Given the description of an element on the screen output the (x, y) to click on. 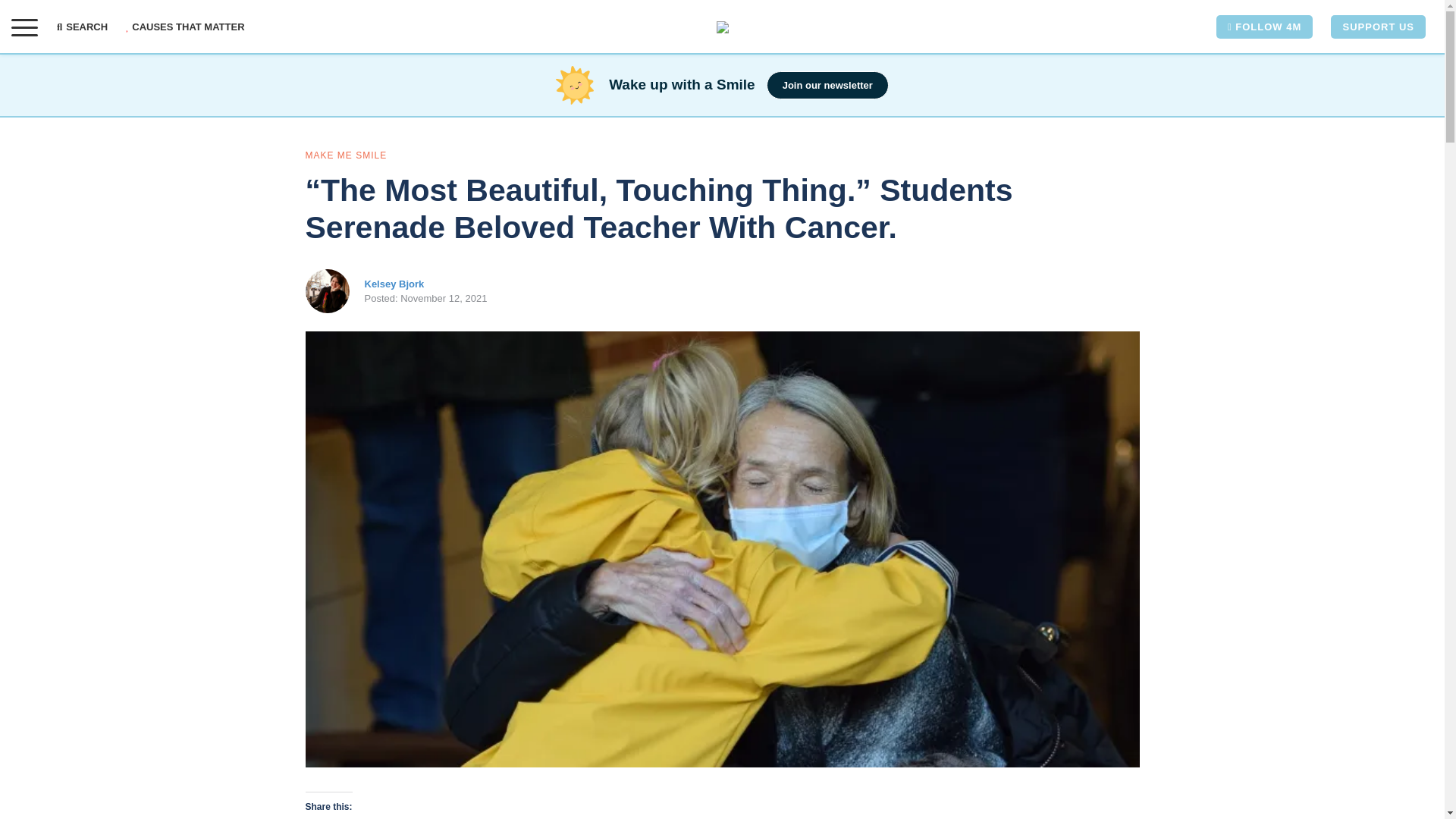
SEARCH (86, 26)
Kelsey Bjork (393, 283)
FOLLOW 4M (1264, 26)
SUPPORT US (1377, 26)
Join our newsletter (827, 85)
CAUSES THAT MATTER (184, 26)
MAKE ME SMILE (345, 154)
